Given the description of an element on the screen output the (x, y) to click on. 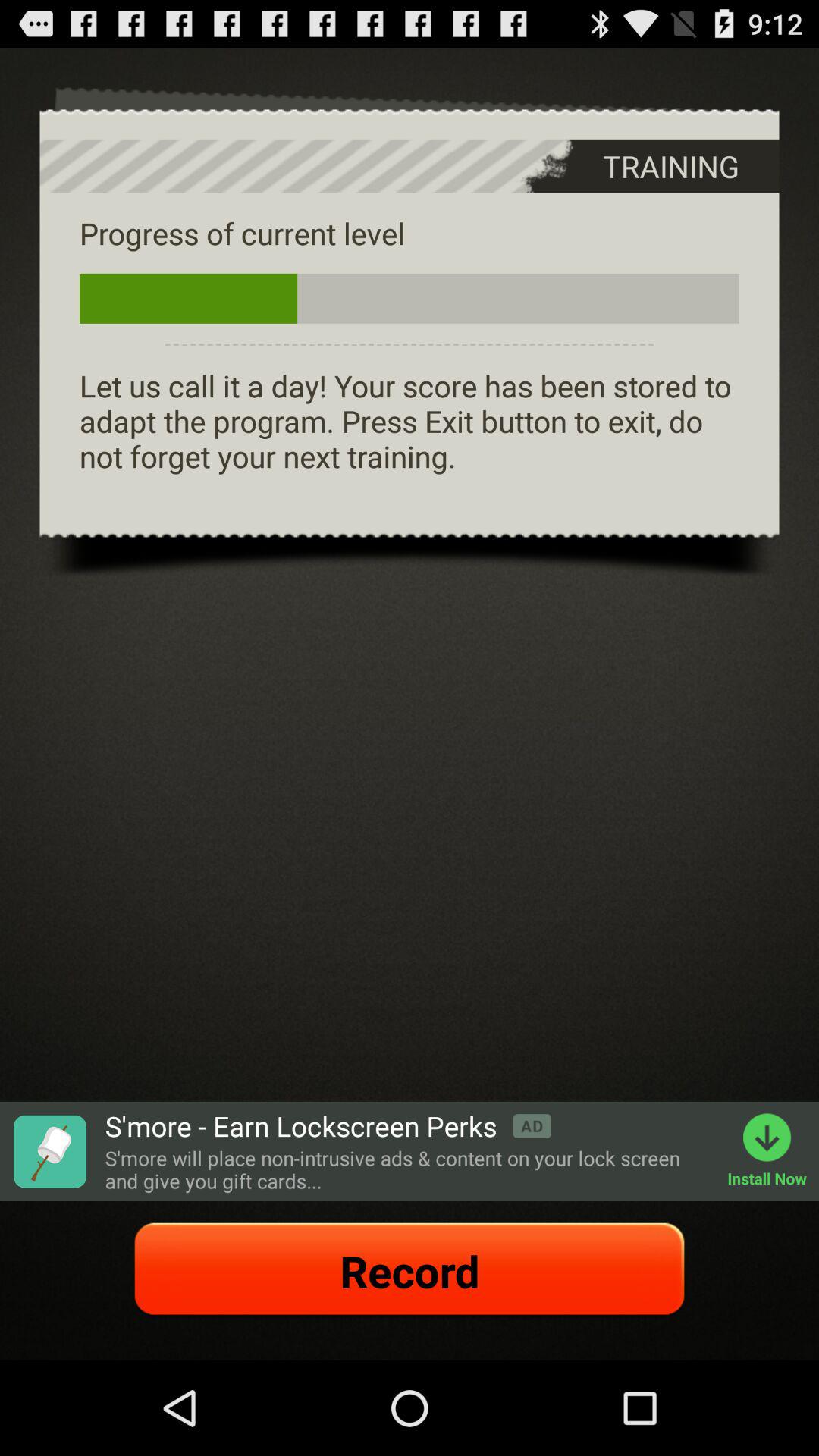
advertisement picture (49, 1150)
